Given the description of an element on the screen output the (x, y) to click on. 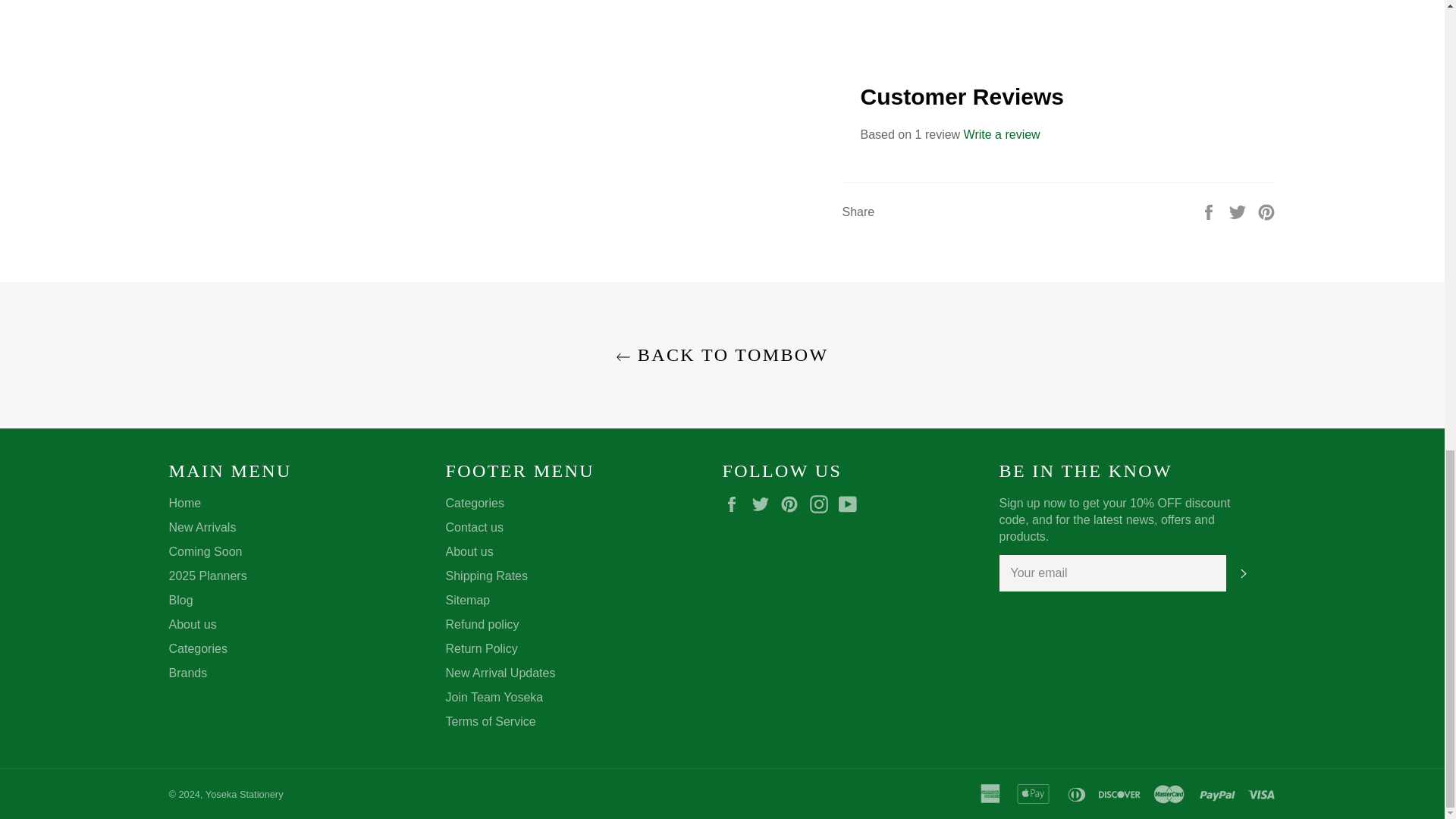
Yoseka Stationery on Pinterest (793, 504)
Share on Facebook (1210, 211)
Tweet on Twitter (1238, 211)
Pin on Pinterest (1266, 211)
Yoseka Stationery on Instagram (822, 504)
Yoseka Stationery on YouTube (851, 504)
Yoseka Stationery on Twitter (764, 504)
Yoseka Stationery on Facebook (735, 504)
YouTube video player (1058, 16)
